Given the description of an element on the screen output the (x, y) to click on. 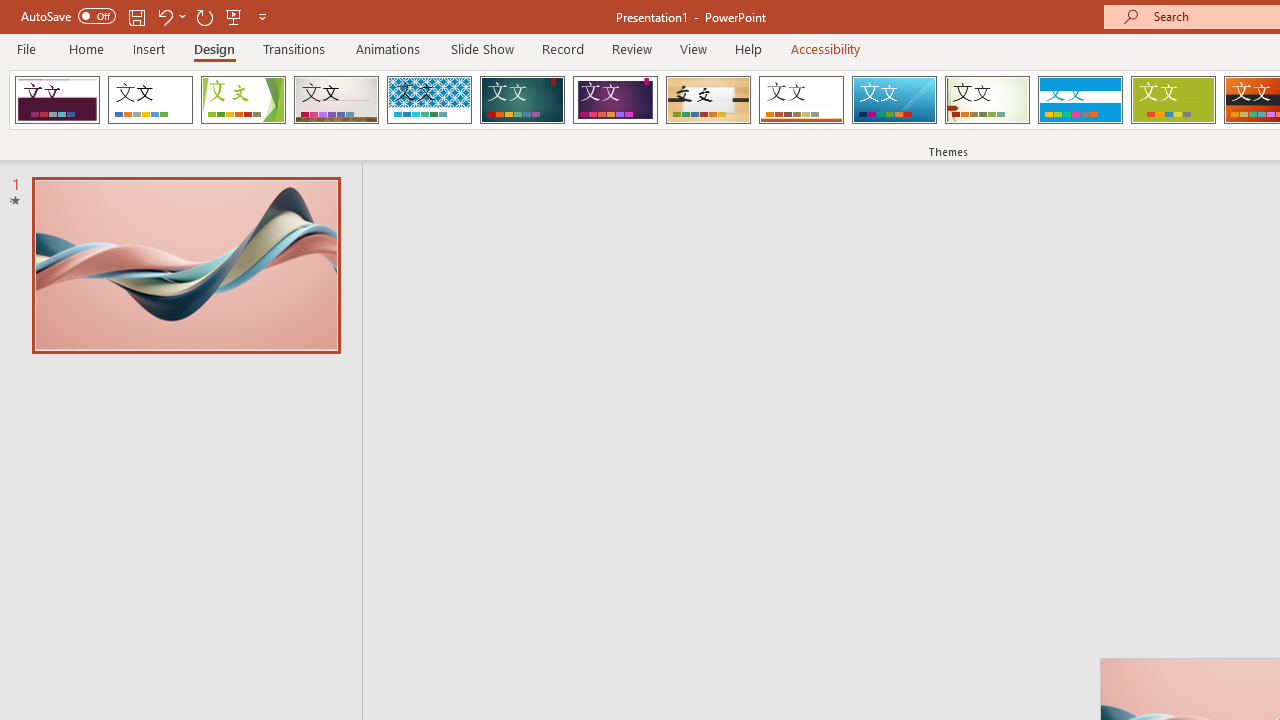
Basis (1172, 100)
Wisp (987, 100)
Ion (522, 100)
Organic (708, 100)
Slice (893, 100)
Integral (429, 100)
